Given the description of an element on the screen output the (x, y) to click on. 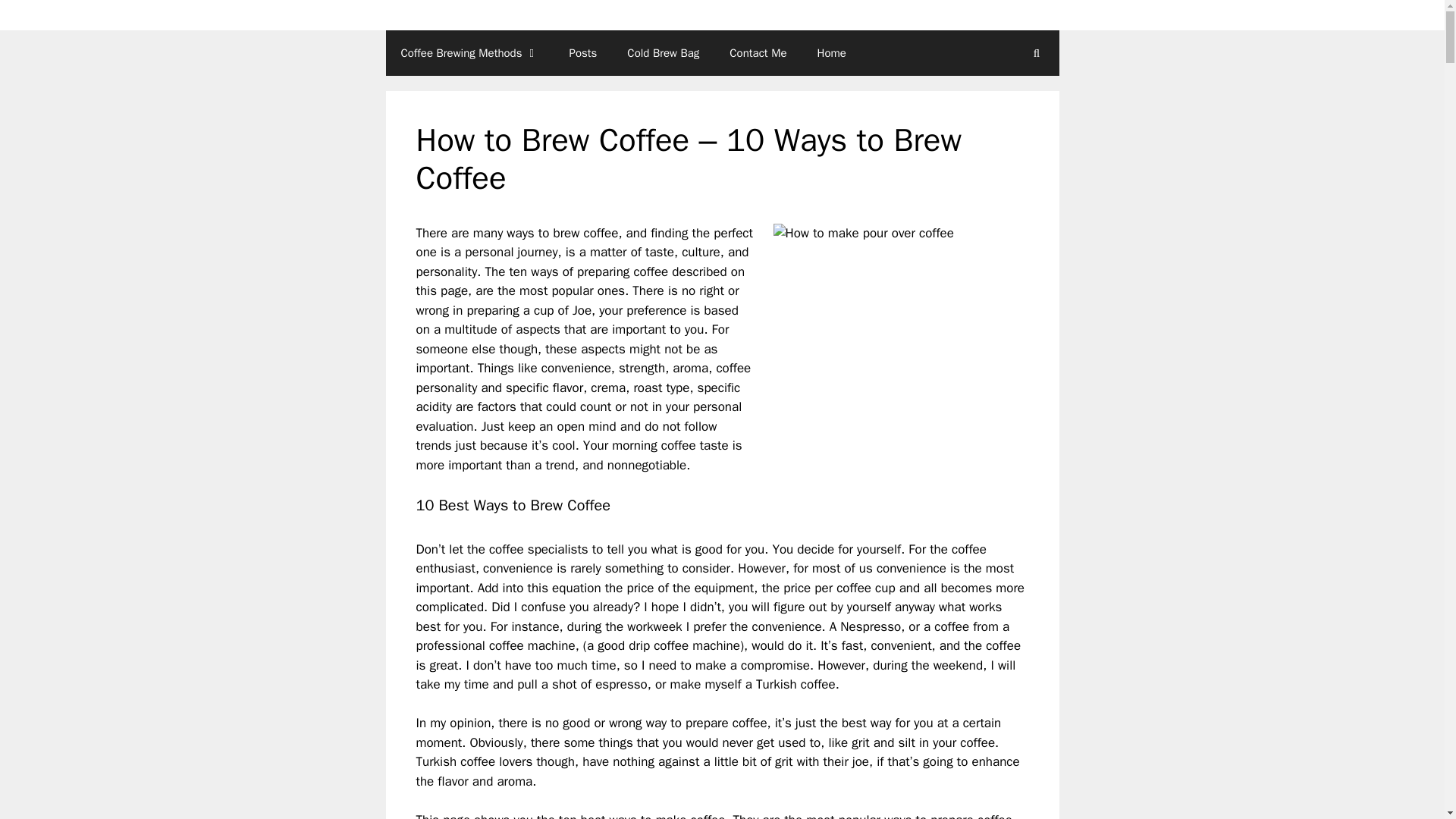
Home (831, 53)
Cold Brew Bag (662, 53)
Contact Me (758, 53)
Posts (582, 53)
Cold Brew Coffee Bag (662, 53)
Coffee Brewing Methods (469, 53)
